Given the description of an element on the screen output the (x, y) to click on. 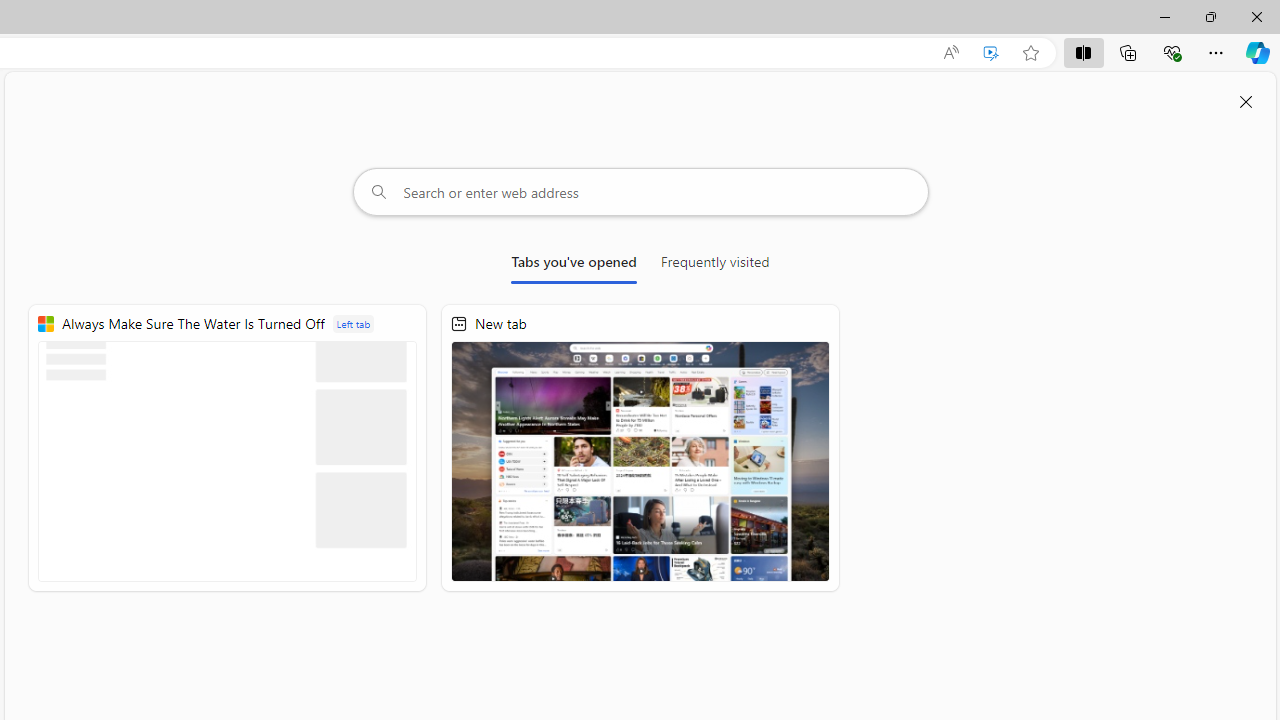
Always Make Sure The Water Is Turned Off (227, 448)
Settings and more (Alt+F) (1215, 52)
Enhance video (991, 53)
